Given the description of an element on the screen output the (x, y) to click on. 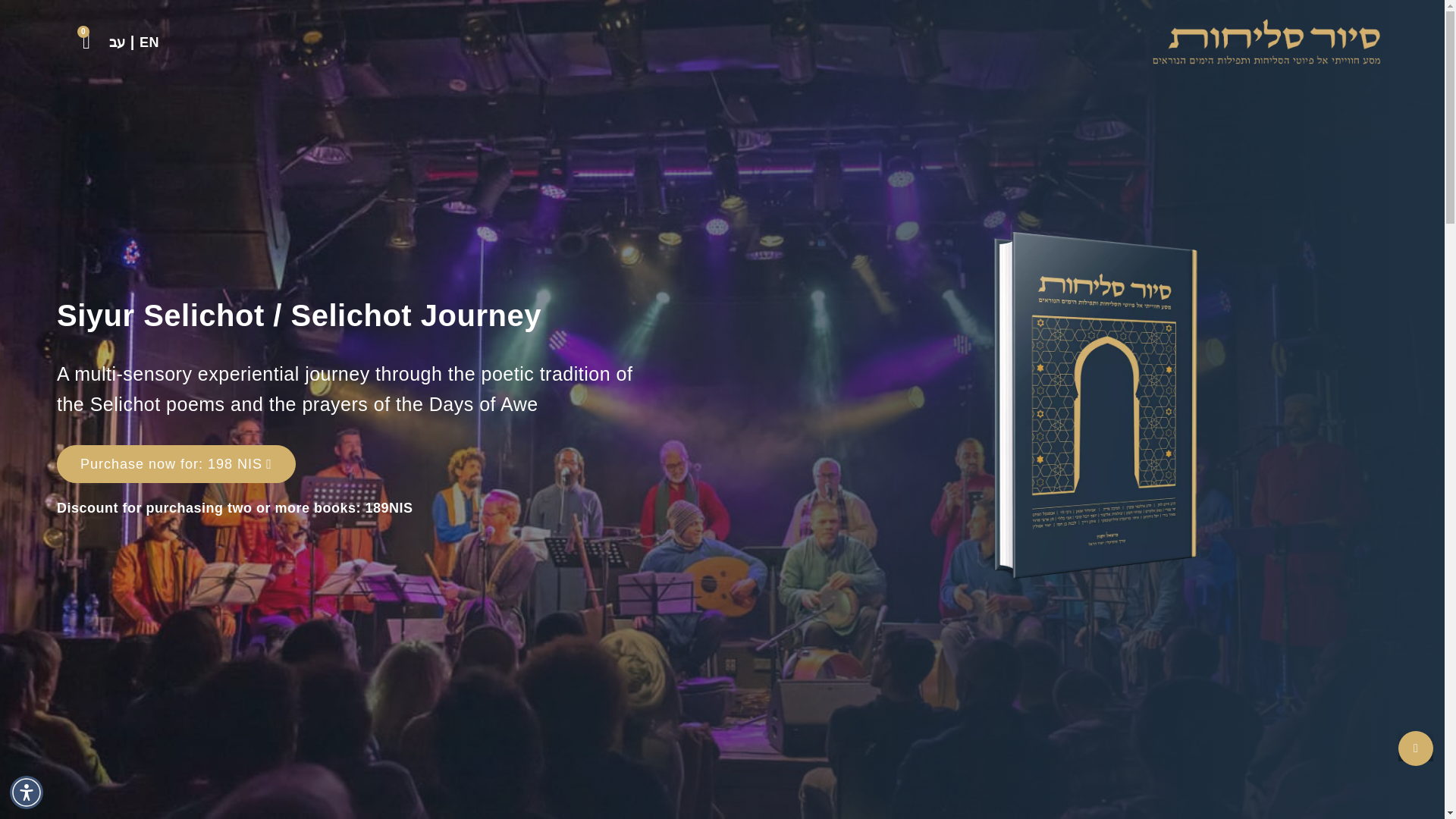
0 (86, 41)
Accessibility Menu (26, 792)
Play (1415, 748)
Purchase now for: 198 NIS (175, 464)
EN (148, 42)
